Given the description of an element on the screen output the (x, y) to click on. 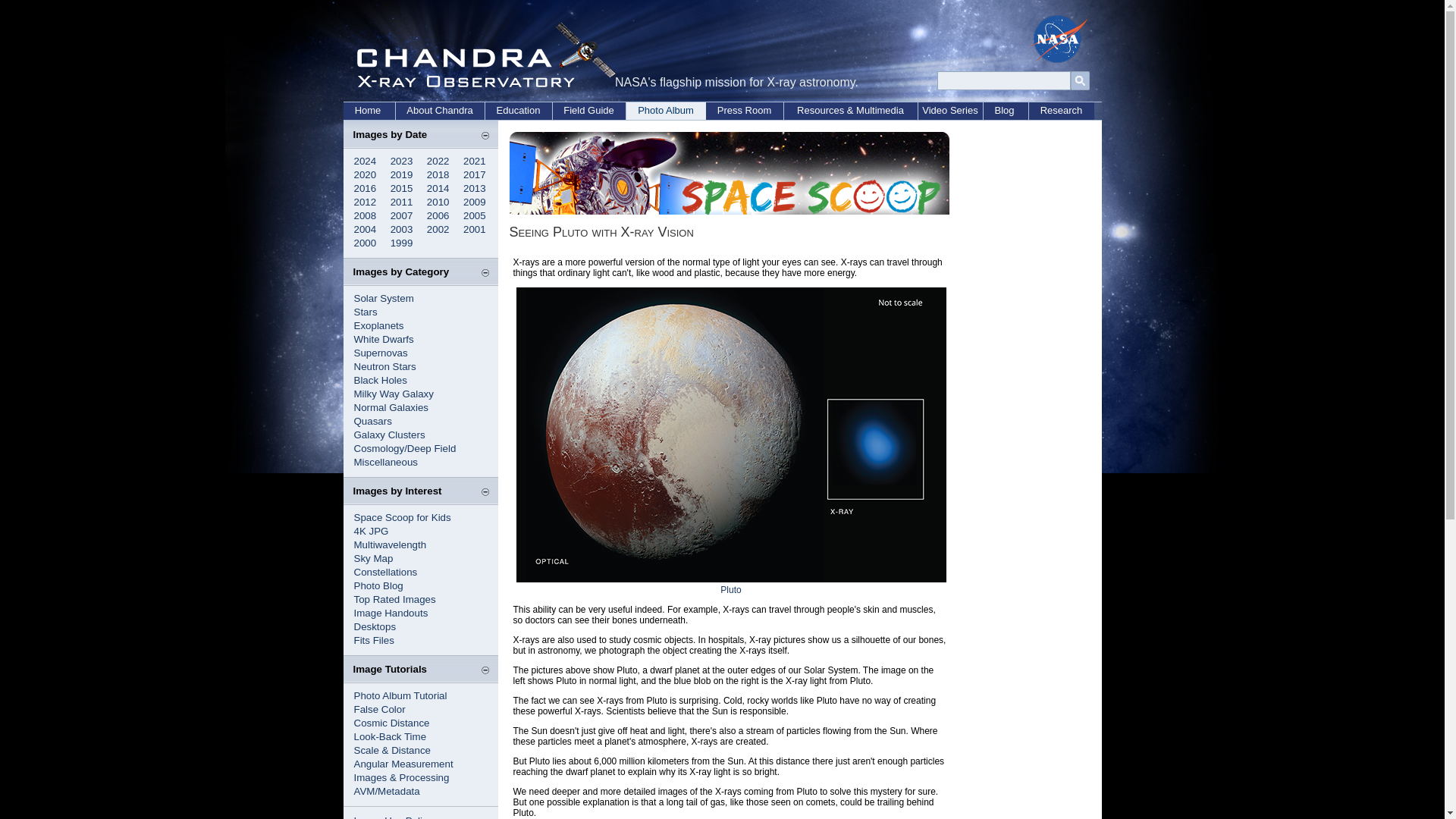
1999 (401, 242)
2024 (364, 161)
Search... (1003, 80)
2000 (364, 242)
Press Room (743, 110)
Blog (1004, 110)
2001 (474, 229)
2010 (437, 202)
Home (368, 110)
2003 (401, 229)
